Given the description of an element on the screen output the (x, y) to click on. 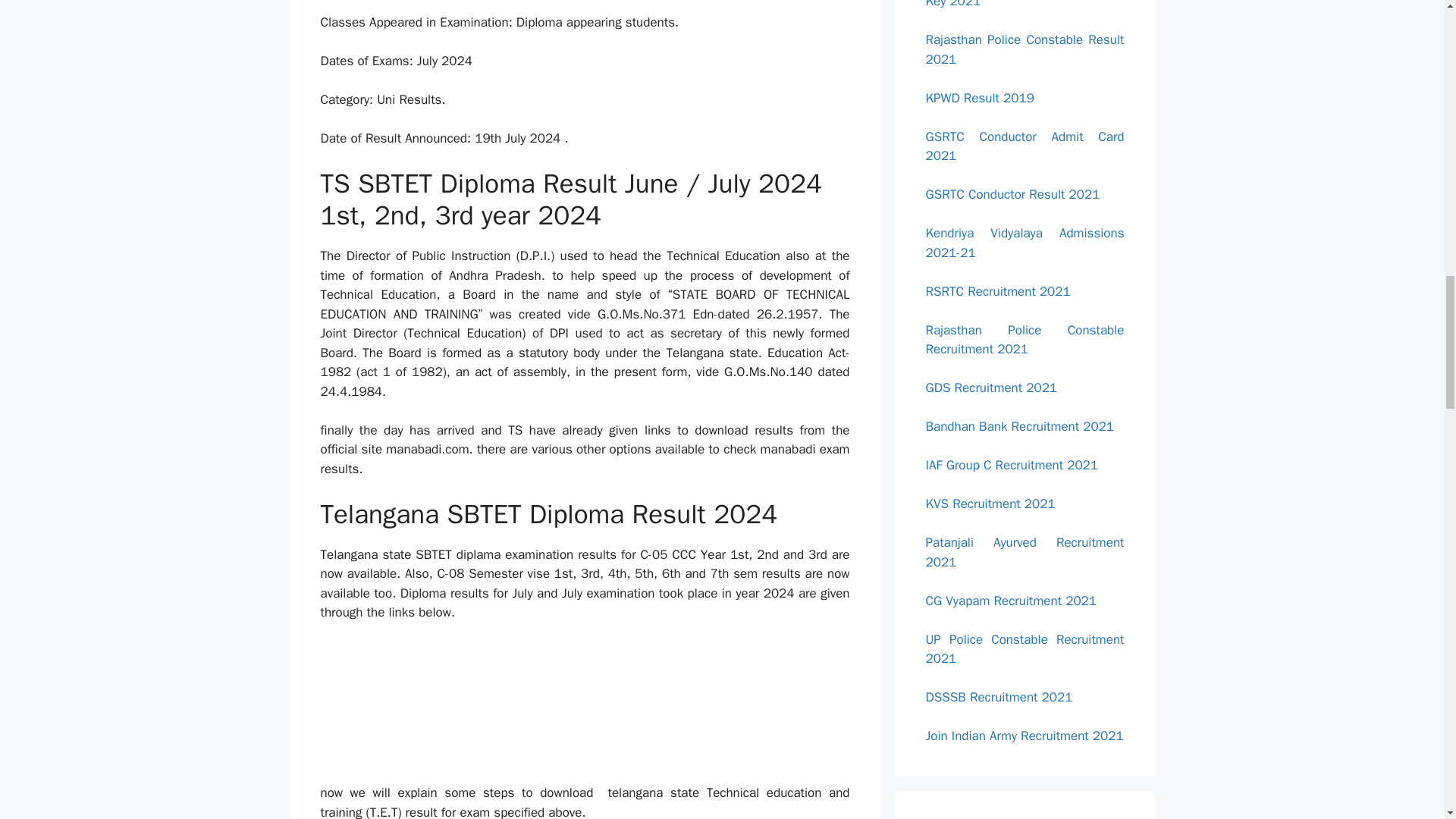
Advertisement (603, 6)
Advertisement (603, 711)
